Given the description of an element on the screen output the (x, y) to click on. 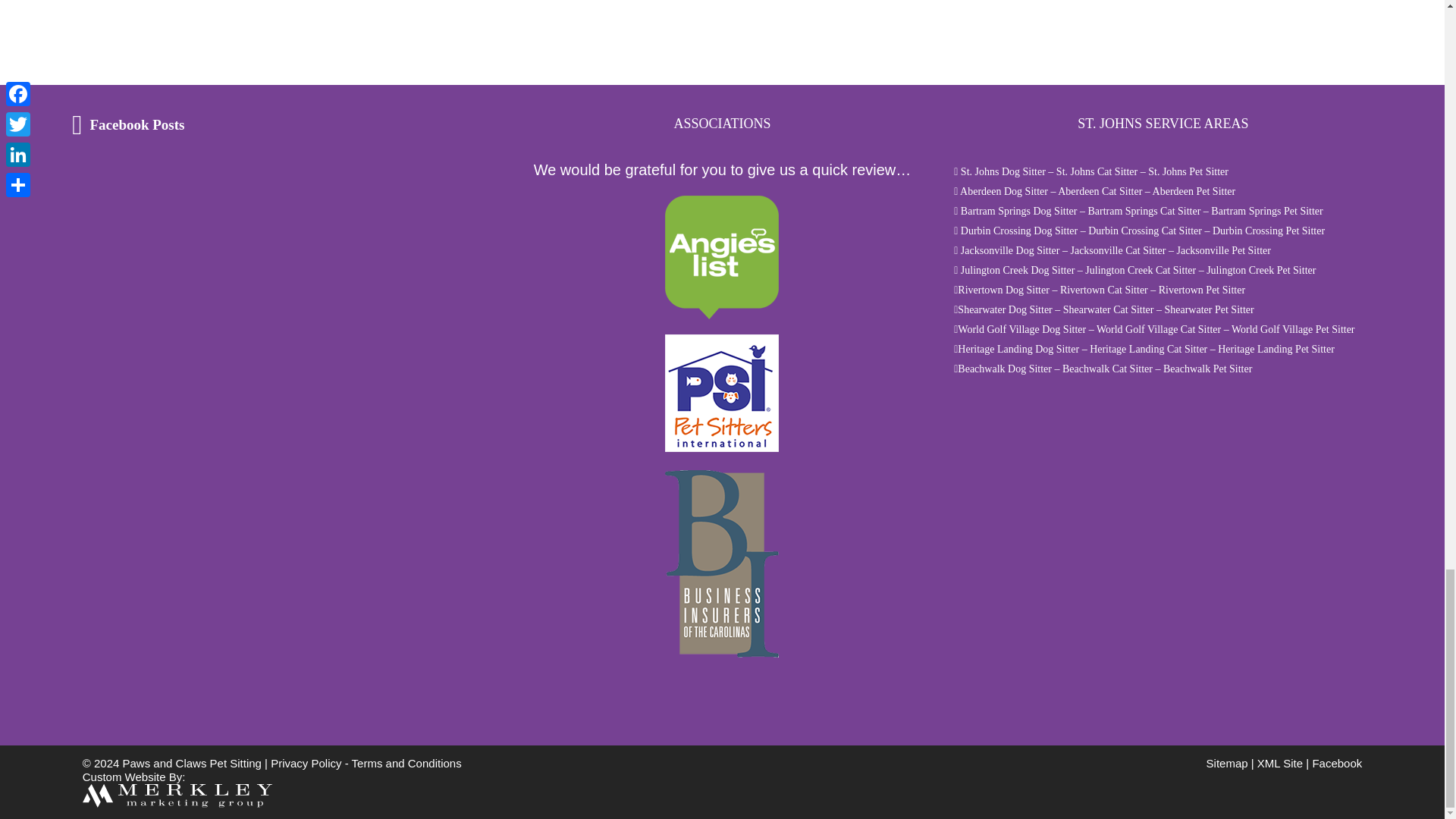
Sitemap (1227, 762)
Facebook (1336, 762)
XML Site (1280, 762)
Privacy Policy - Terms and Conditions (365, 762)
Likebox Iframe (166, 225)
